Given the description of an element on the screen output the (x, y) to click on. 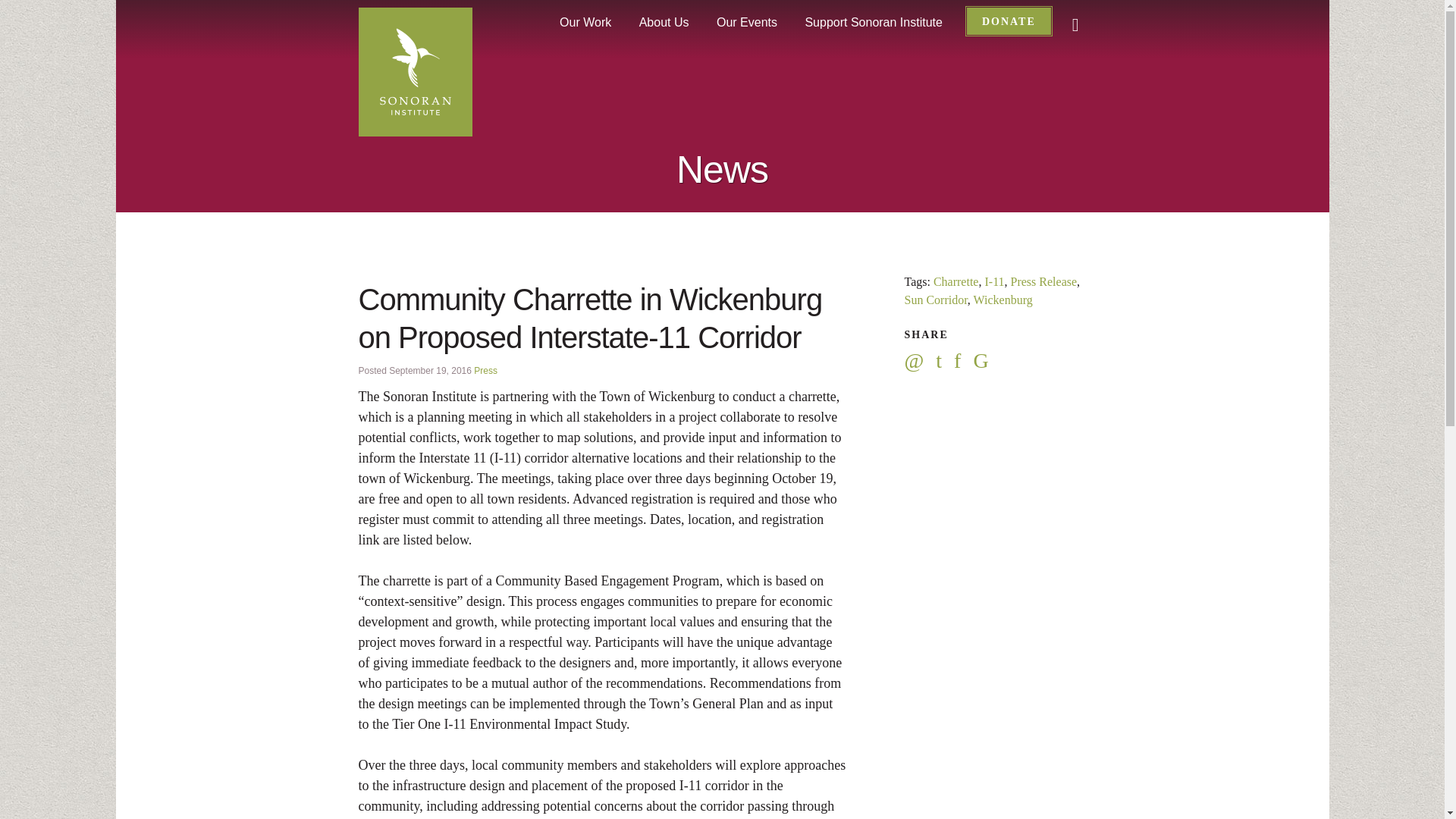
Our Work (585, 22)
DONATE (1008, 21)
I-11 (994, 281)
Share via Email (920, 363)
Sun Corridor (935, 299)
Charrette (955, 281)
Our Events (746, 22)
Wickenburg (1003, 299)
About Us (664, 22)
Share via Facebook (962, 363)
Press (485, 370)
Support Sonoran Institute (872, 22)
Press Release (1043, 281)
Share via Twitter (944, 363)
